Given the description of an element on the screen output the (x, y) to click on. 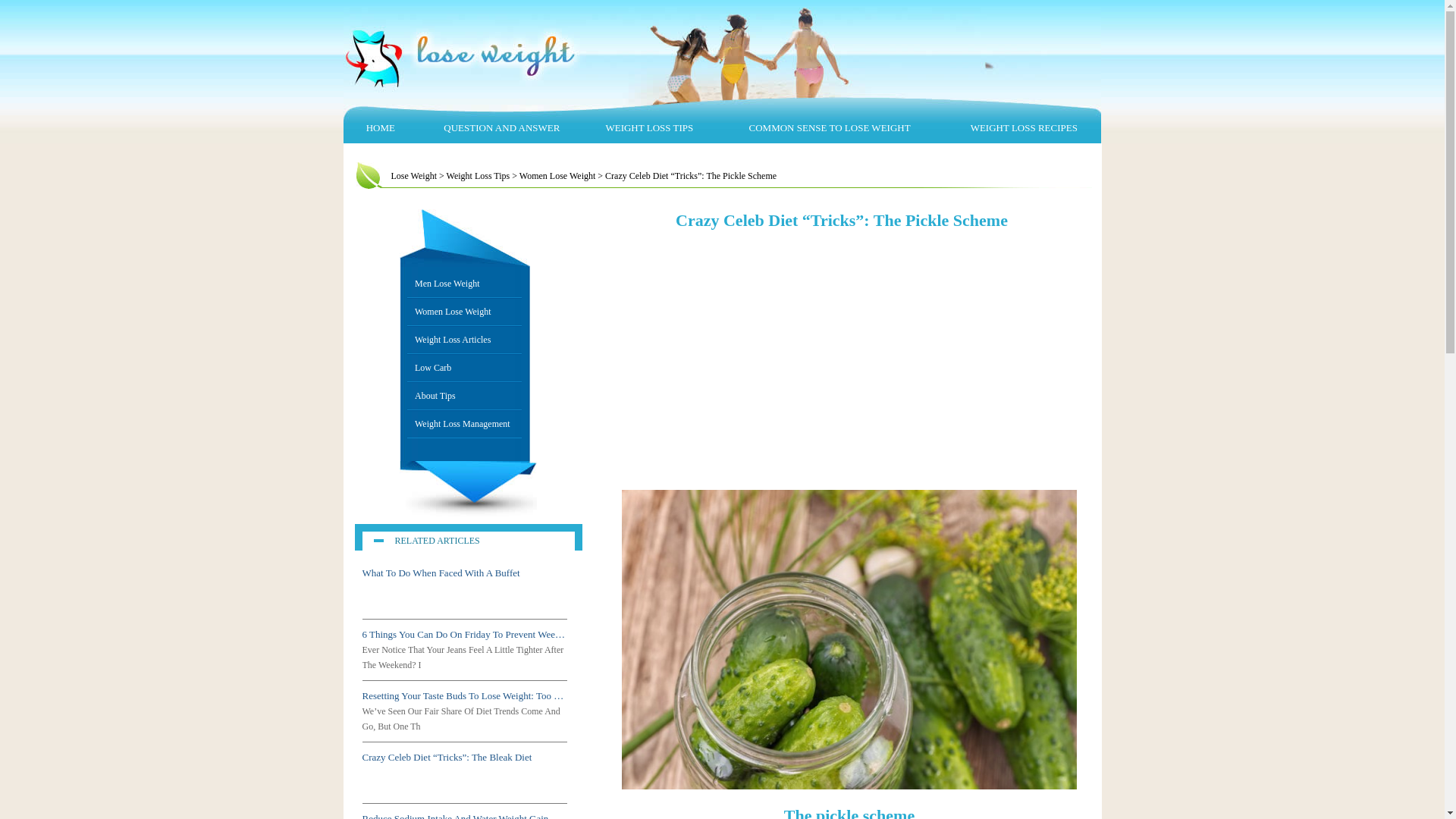
6 Things You Can Do On Friday To Prevent Weekend Weight Gain Element type: text (464, 634)
Lose Weight Element type: text (413, 175)
COMMON SENSE TO LOSE WEIGHT Element type: text (829, 127)
Weight Loss Management Element type: text (464, 424)
Weight Loss Tips Element type: text (478, 175)
About Tips Element type: text (464, 396)
What To Do When Faced With A Buffet Element type: text (464, 572)
Women Lose Weight Element type: text (464, 312)
Women Lose Weight Element type: text (557, 175)
HOME Element type: text (380, 127)
Men Lose Weight Element type: text (464, 284)
Advertisement Element type: hover (844, 368)
Weight Loss Articles Element type: text (464, 340)
Low Carb Element type: text (464, 368)
WEIGHT LOSS TIPS Element type: text (649, 127)
WEIGHT LOSS RECIPES Element type: text (1023, 127)
QUESTION AND ANSWER Element type: text (501, 127)
